Given the description of an element on the screen output the (x, y) to click on. 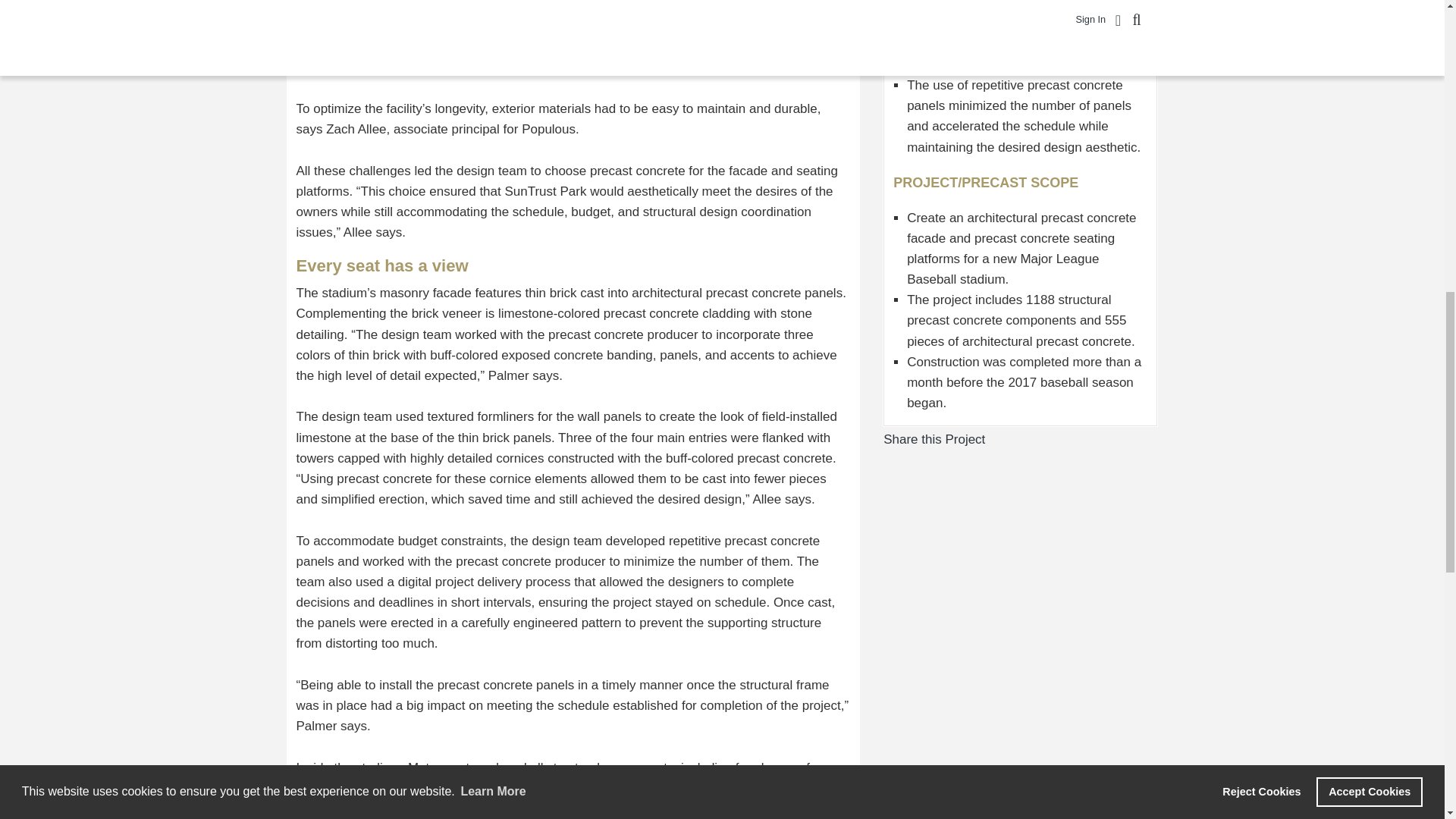
Tweet this (1013, 439)
Show more (1059, 439)
Share on LinkedIn (1028, 439)
More options (1059, 439)
Share on LinkedIn (1028, 439)
Tell a friend (1043, 439)
Share on Facebook (997, 439)
Share on Facebook (997, 439)
Email (1043, 439)
